Given the description of an element on the screen output the (x, y) to click on. 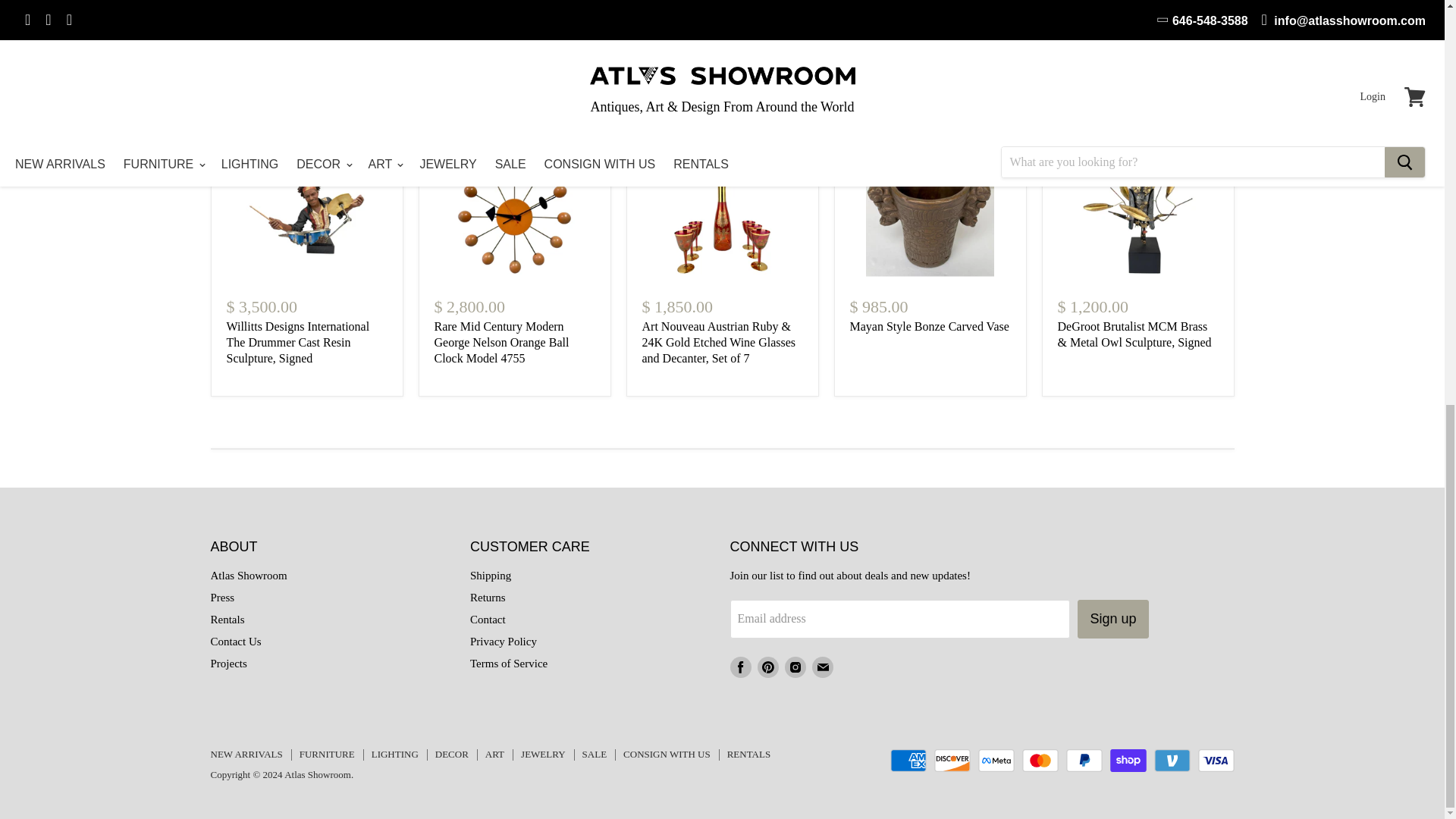
American Express (907, 760)
Mastercard (1040, 760)
Discover (952, 760)
Meta Pay (996, 760)
